Given the description of an element on the screen output the (x, y) to click on. 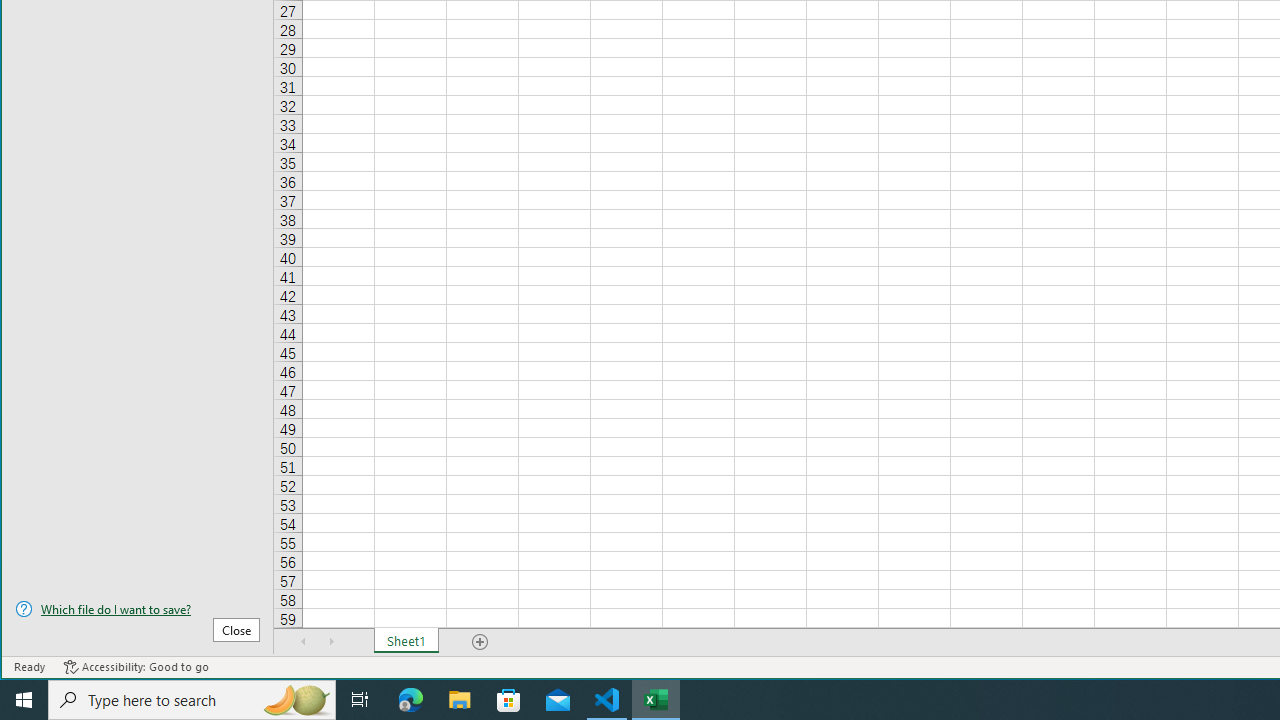
Type here to search (191, 699)
Visual Studio Code - 1 running window (607, 699)
